Given the description of an element on the screen output the (x, y) to click on. 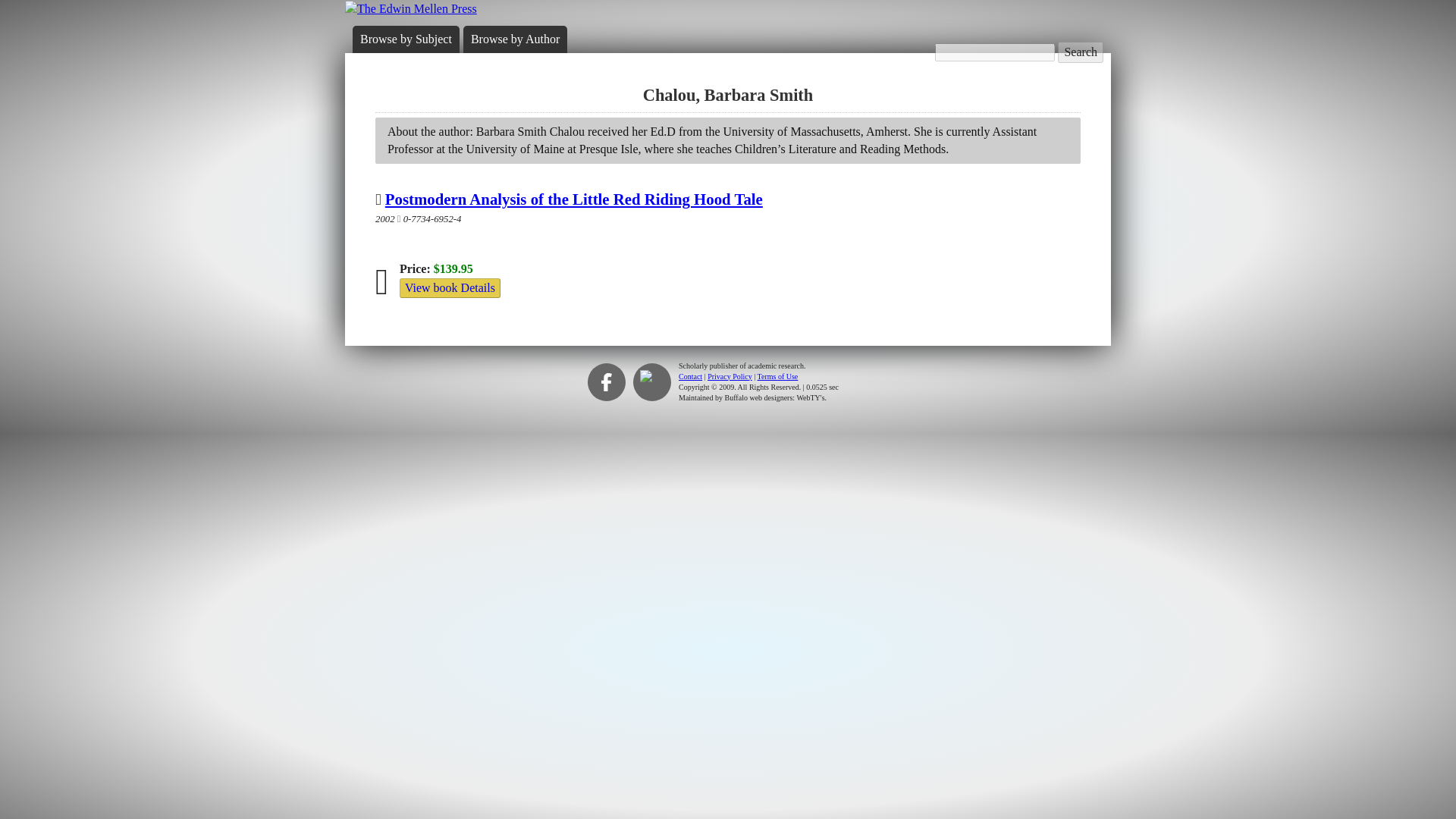
View book Details (449, 287)
Browse by Subject (405, 39)
Terms of Use (777, 376)
Search (1080, 52)
Buffalo web designers: WebTY's (775, 397)
Browse by Author (514, 39)
Contact (689, 376)
View book Details (449, 288)
Postmodern Analysis of the Little Red Riding Hood Tale (573, 199)
Privacy Policy (729, 376)
